Given the description of an element on the screen output the (x, y) to click on. 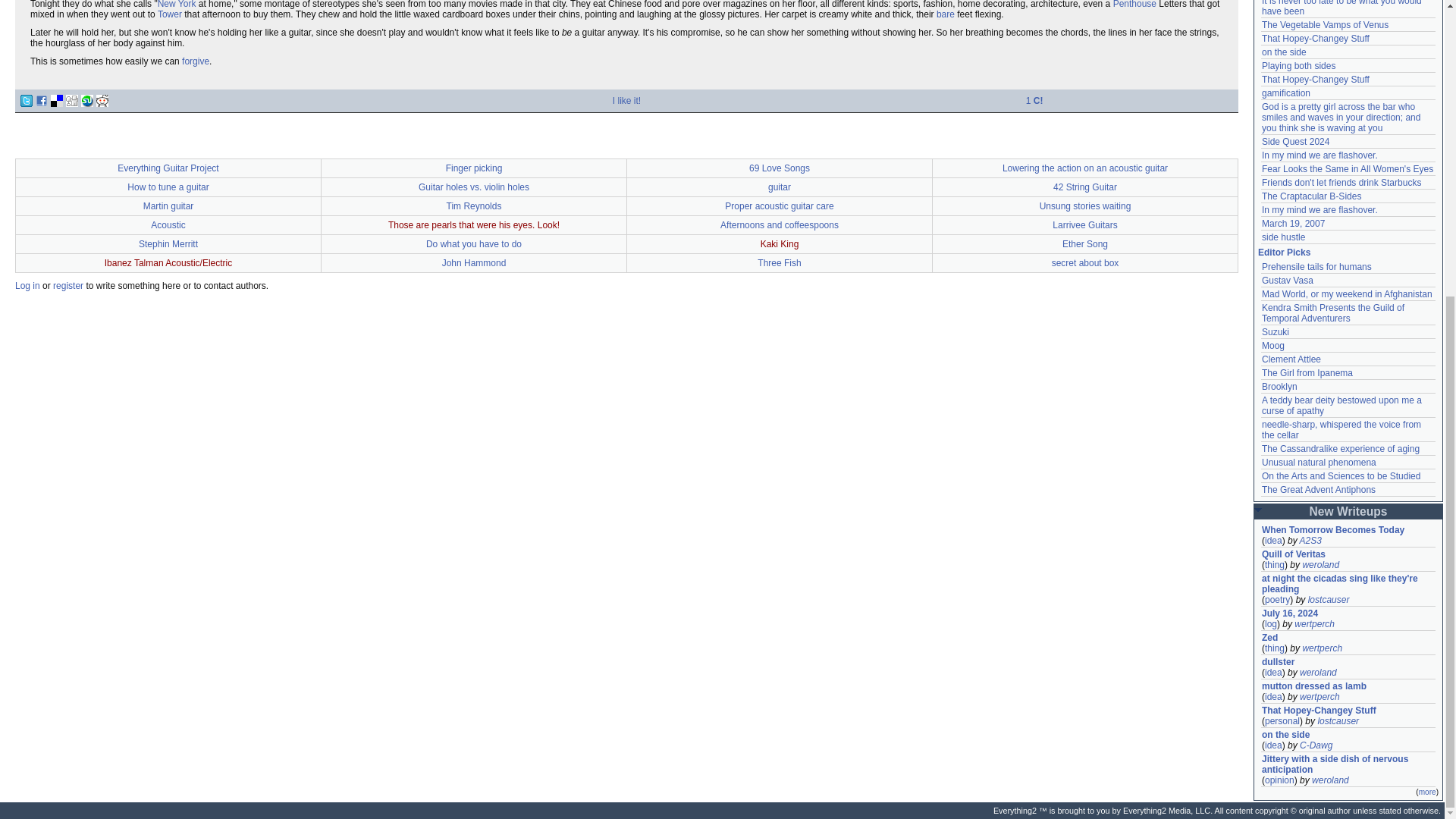
Penthouse (1134, 4)
bare (945, 14)
forgive (195, 61)
New York (176, 4)
Tower (169, 14)
